Given the description of an element on the screen output the (x, y) to click on. 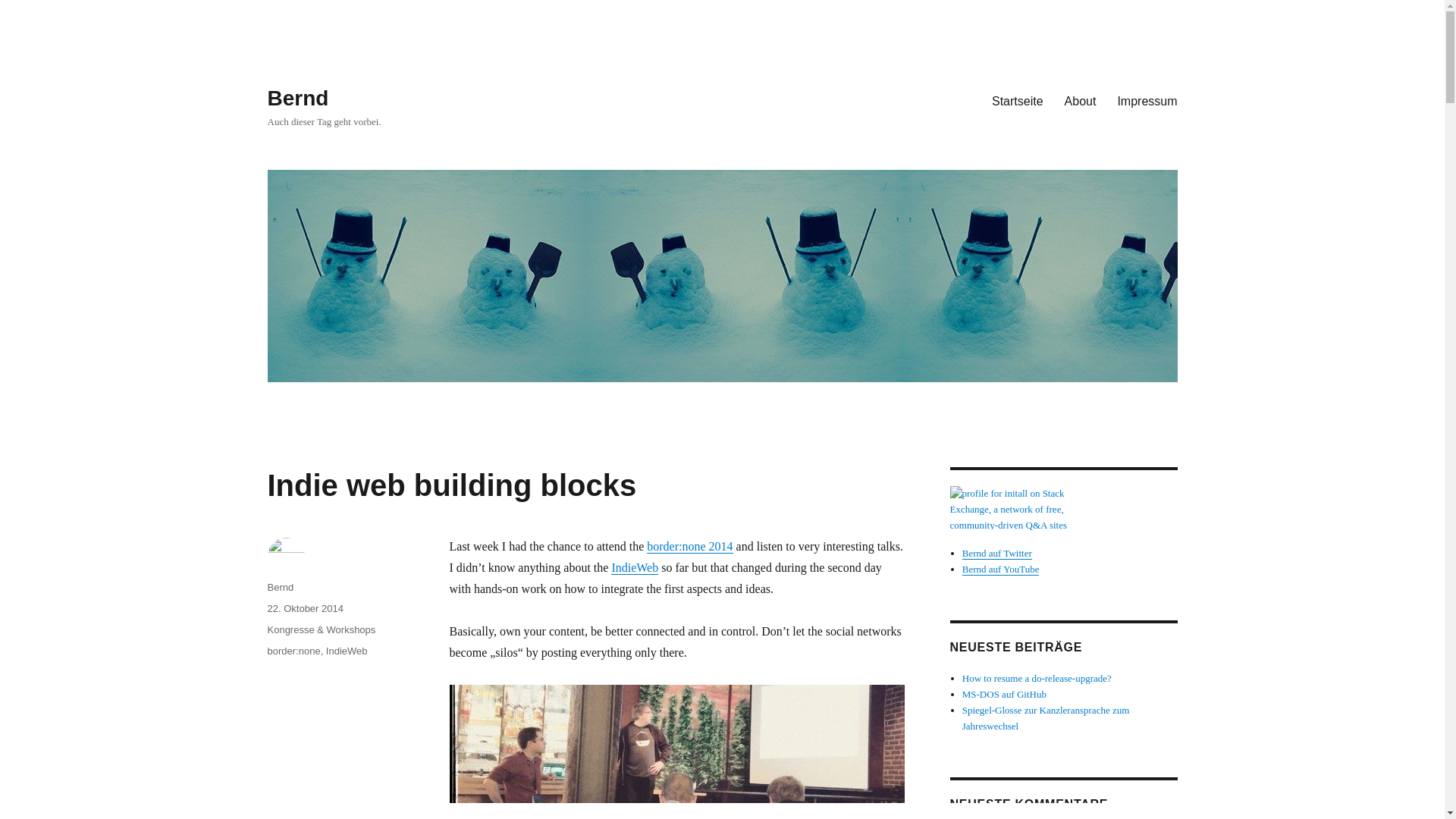
Impressum (1147, 101)
border:none (293, 650)
border:none 2014 (689, 545)
22. Oktober 2014 (304, 608)
Bernd (297, 97)
IndieWeb (347, 650)
Bernd (280, 586)
Startseite (1017, 101)
IndieWeb (634, 567)
About (1080, 101)
